Given the description of an element on the screen output the (x, y) to click on. 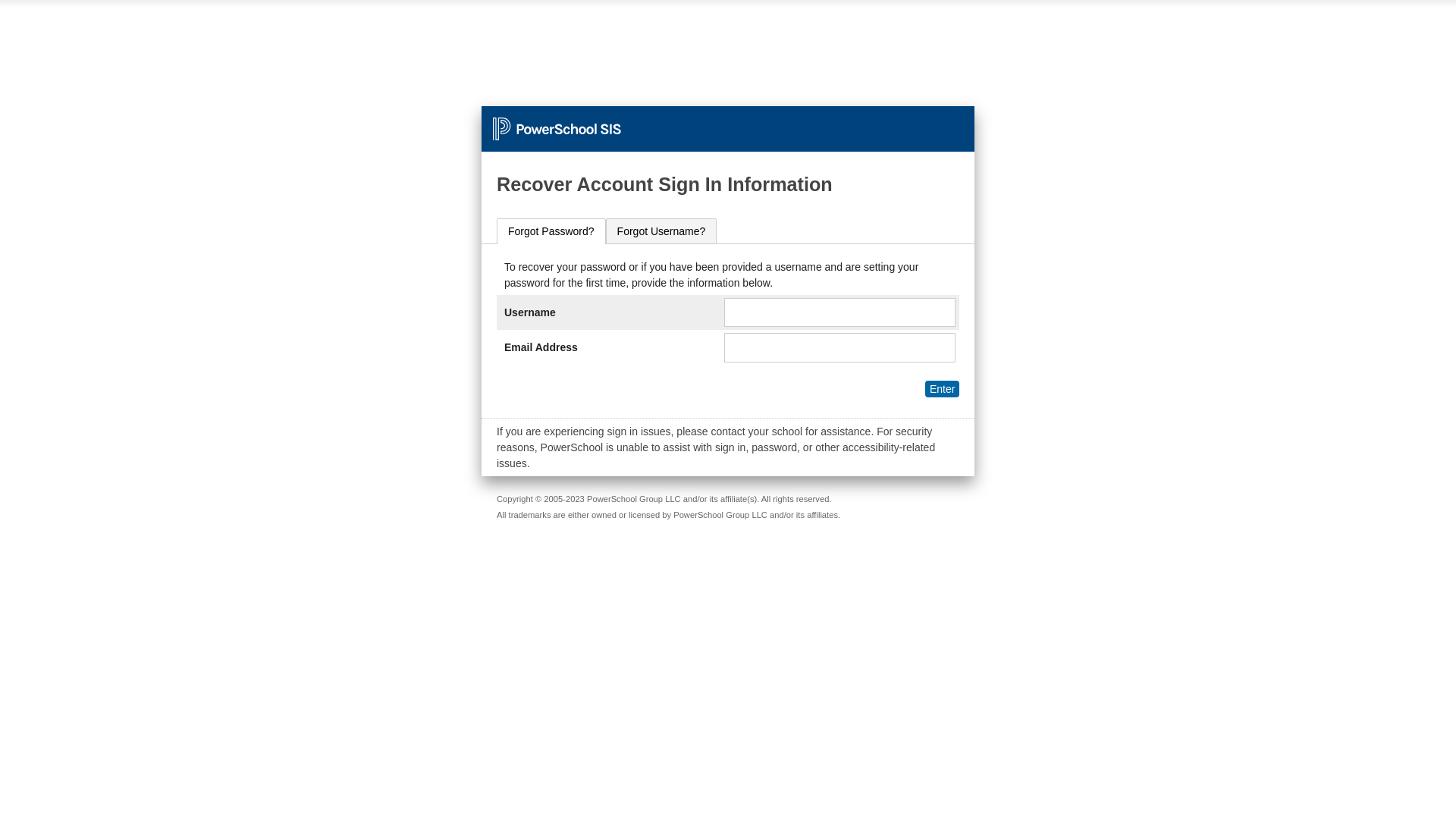
Enter Element type: text (942, 388)
Forgot Username? Element type: text (661, 231)
Forgot Password? Element type: text (551, 231)
